Given the description of an element on the screen output the (x, y) to click on. 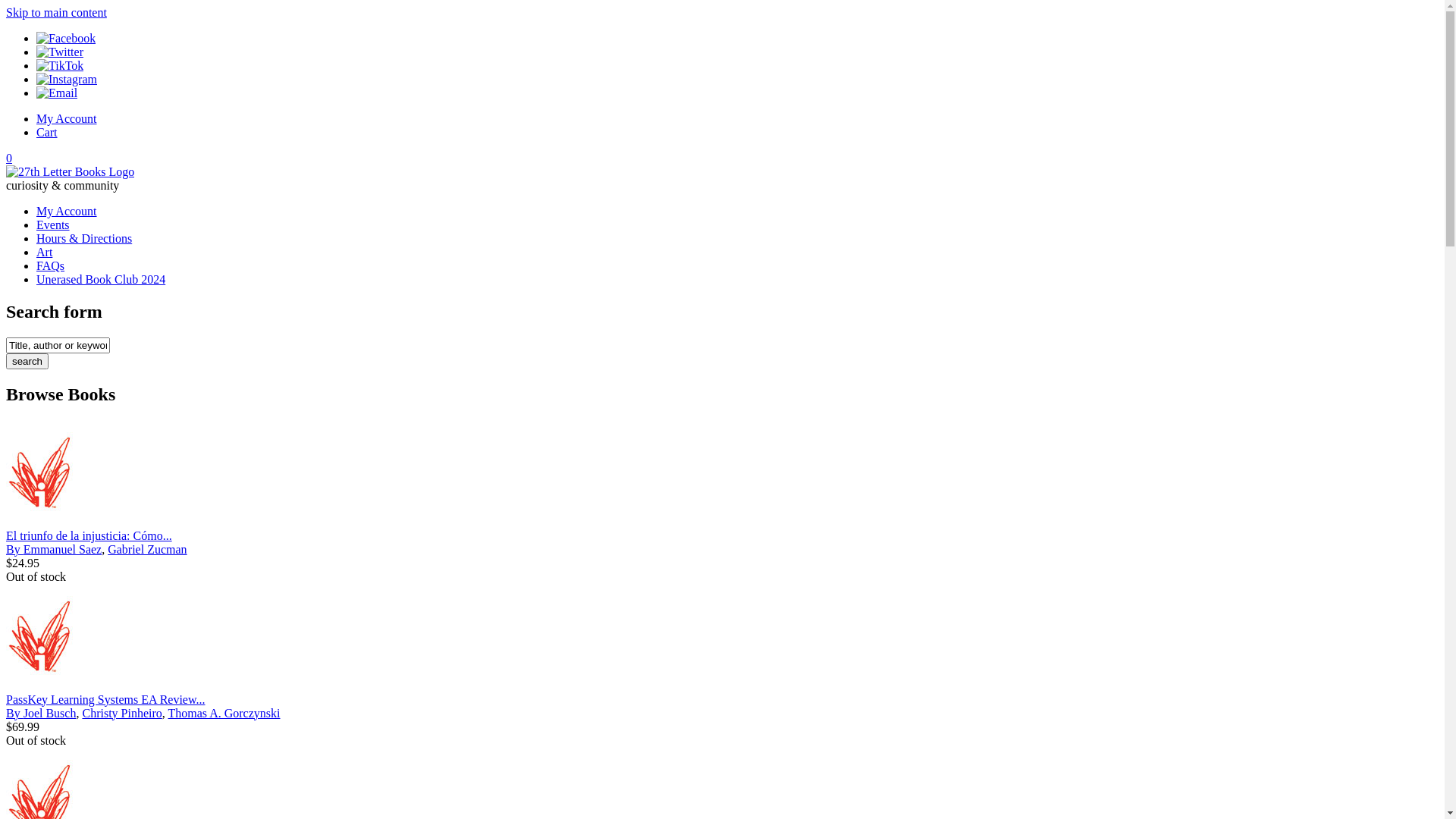
My Account Element type: text (66, 210)
Christy Pinheiro Element type: text (121, 712)
Home Element type: hover (70, 171)
PassKey Learning Systems EA Review... Element type: text (105, 699)
Thomas A. Gorczynski Element type: text (224, 712)
Events Element type: text (52, 224)
By Element type: text (14, 712)
FAQs Element type: text (50, 265)
Gabriel Zucman Element type: text (146, 548)
Skip to main content Element type: text (56, 12)
My Account Element type: text (66, 118)
Hours & Directions Element type: text (83, 238)
search Element type: text (27, 361)
By Element type: text (14, 548)
Unerased Book Club 2024 Element type: text (100, 279)
0 Element type: text (9, 157)
Cart Element type: text (46, 131)
Joel Busch Element type: text (49, 712)
Art Element type: text (44, 251)
Emmanuel Saez Element type: text (62, 548)
